Given the description of an element on the screen output the (x, y) to click on. 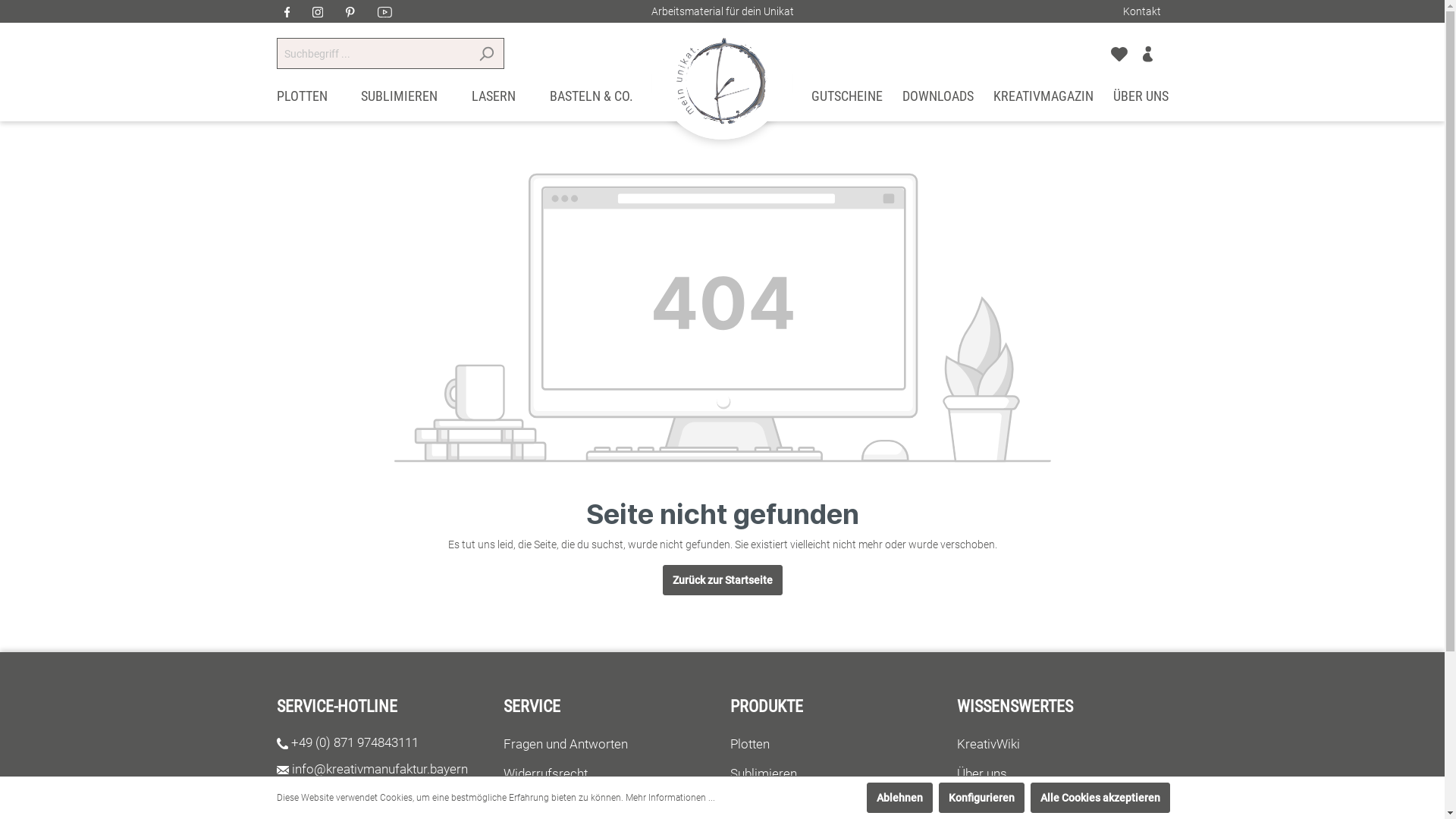
Kontakt Element type: text (1141, 10)
DOWNLOADS Element type: text (937, 99)
PLOTTEN Element type: text (301, 99)
Warenkorb Element type: hover (1163, 46)
Karriere Element type: text (979, 802)
Mehr Informationen ... Element type: text (669, 797)
+49 (0) 871 974843111 Element type: text (354, 741)
BASTELN & CO. Element type: text (591, 99)
Alle Cookies akzeptieren Element type: text (1099, 797)
Mein Konto Element type: hover (1147, 52)
Versand und Zahlung Element type: text (562, 802)
Sublimieren Element type: text (762, 773)
Merkzettel Element type: hover (1119, 52)
SUBLIMIEREN Element type: text (398, 99)
KREATIVMAGAZIN Element type: text (1043, 99)
GUTSCHEINE Element type: text (846, 99)
info@kreativmanufaktur.bayern Element type: text (379, 768)
Fragen und Antworten Element type: text (565, 743)
Widerrufsrecht Element type: text (545, 773)
Ablehnen Element type: text (898, 797)
Lasern Element type: text (748, 802)
Plotten Element type: text (748, 743)
LASERN Element type: text (493, 99)
Konfigurieren Element type: text (981, 797)
KreativWiki Element type: text (988, 743)
